Given the description of an element on the screen output the (x, y) to click on. 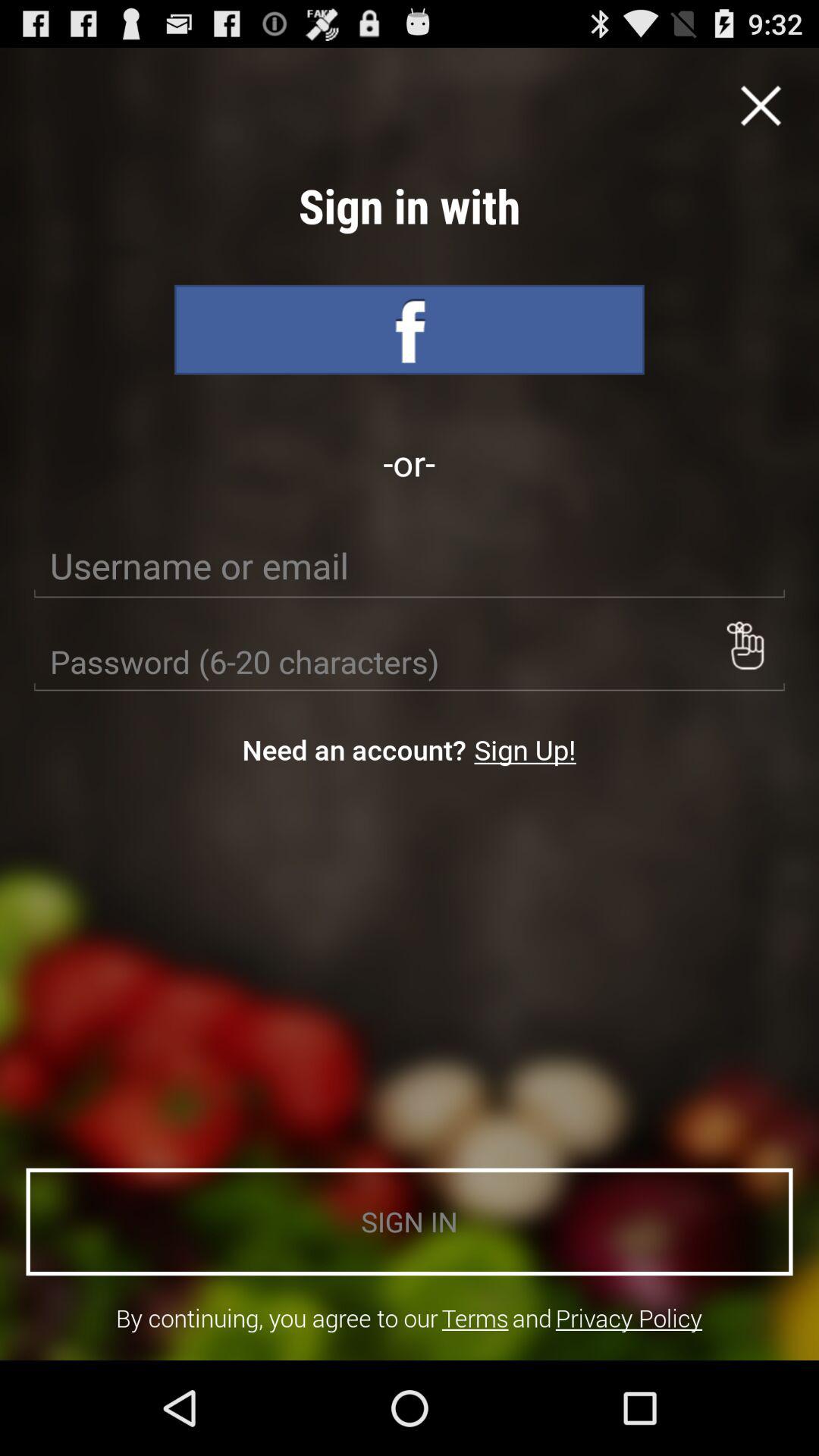
select the item at the top right corner (760, 105)
